Given the description of an element on the screen output the (x, y) to click on. 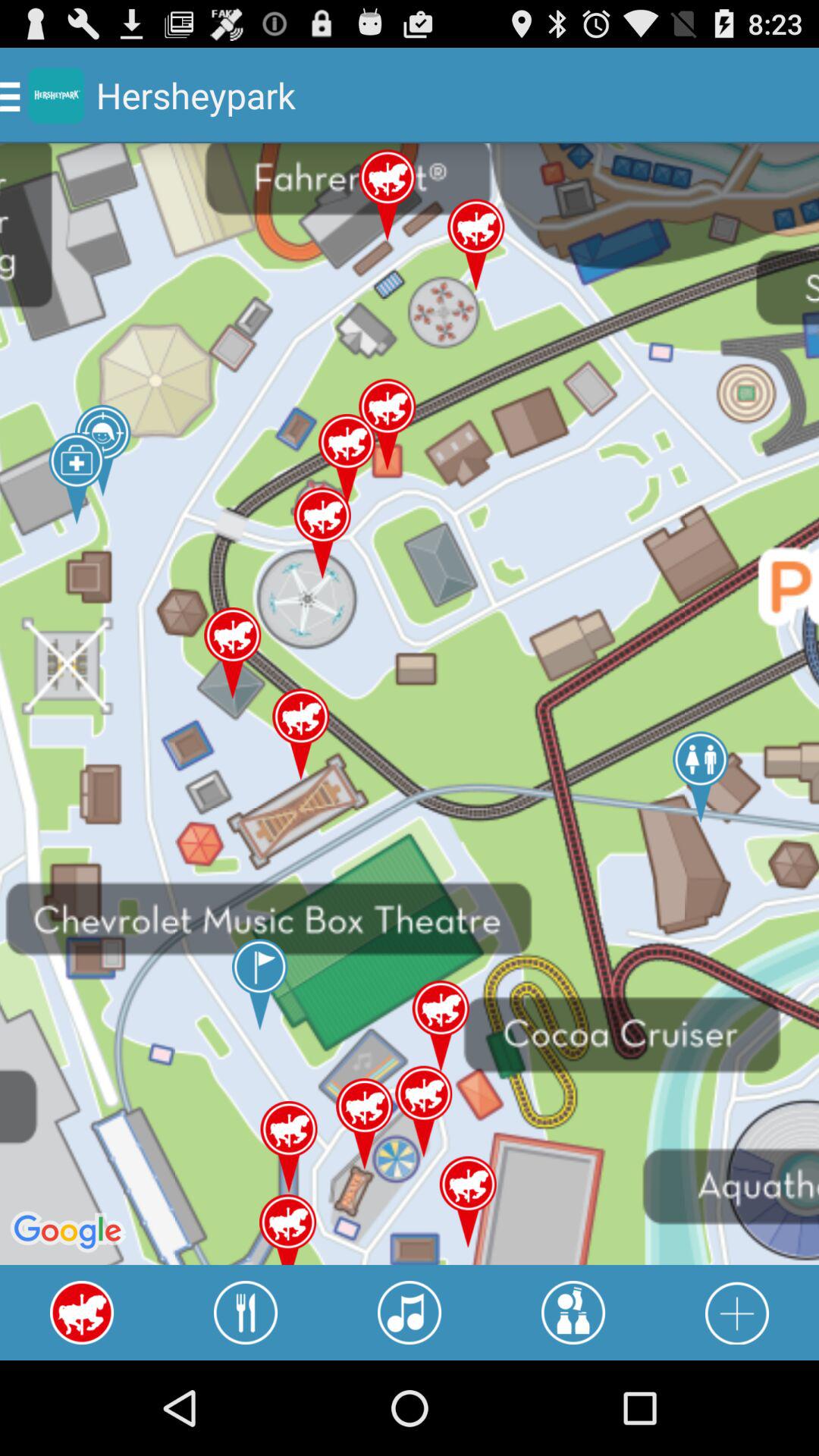
highlight restaurants (245, 1312)
